Given the description of an element on the screen output the (x, y) to click on. 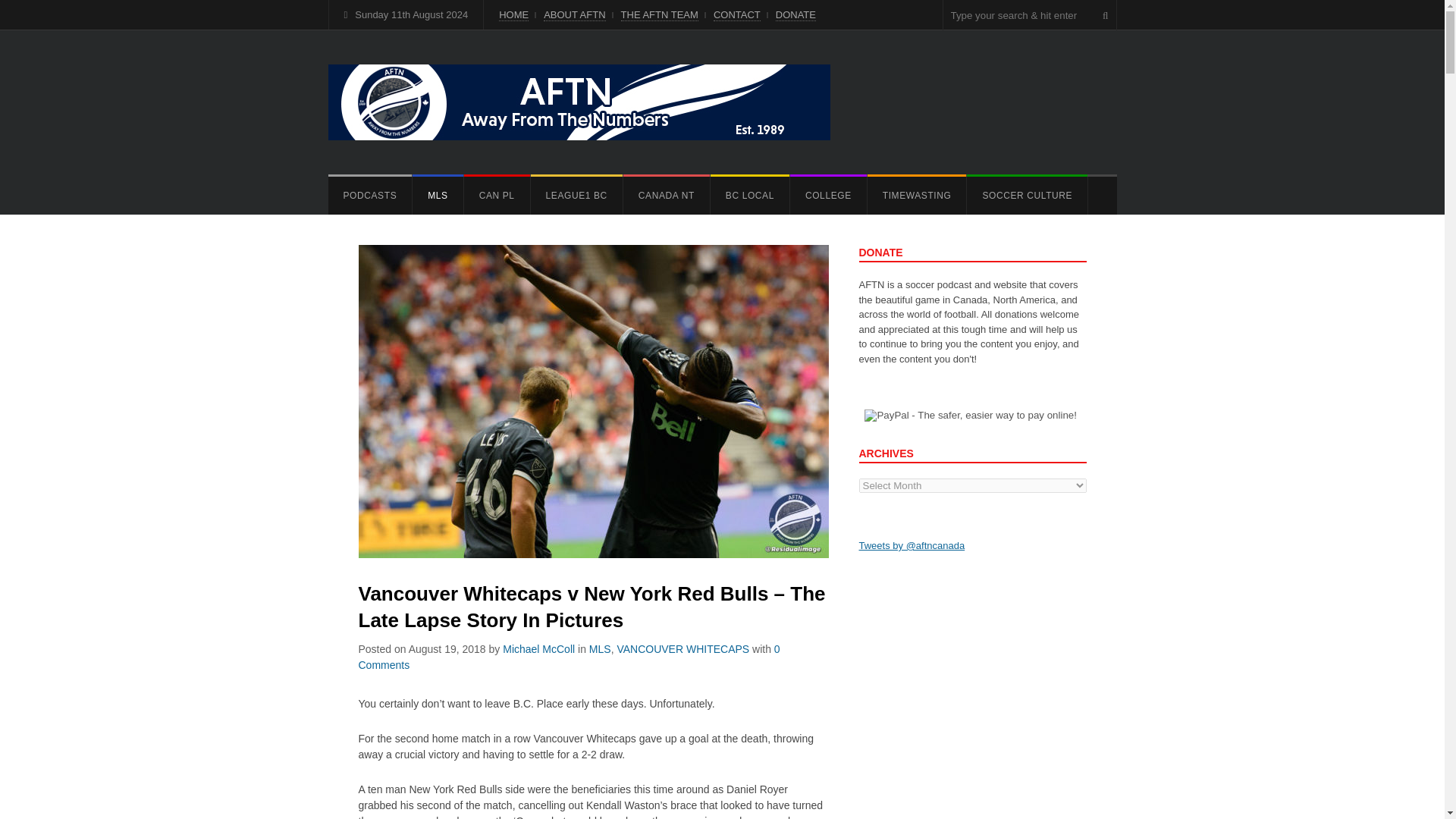
HOME (513, 15)
CAN PL (496, 195)
AFTN (578, 102)
DONATE (795, 15)
ABOUT AFTN (574, 15)
MLS (437, 195)
SOCCER CULTURE (1026, 195)
BC LOCAL (749, 195)
THE AFTN TEAM (659, 15)
Posts by Michael McColl (538, 648)
